Given the description of an element on the screen output the (x, y) to click on. 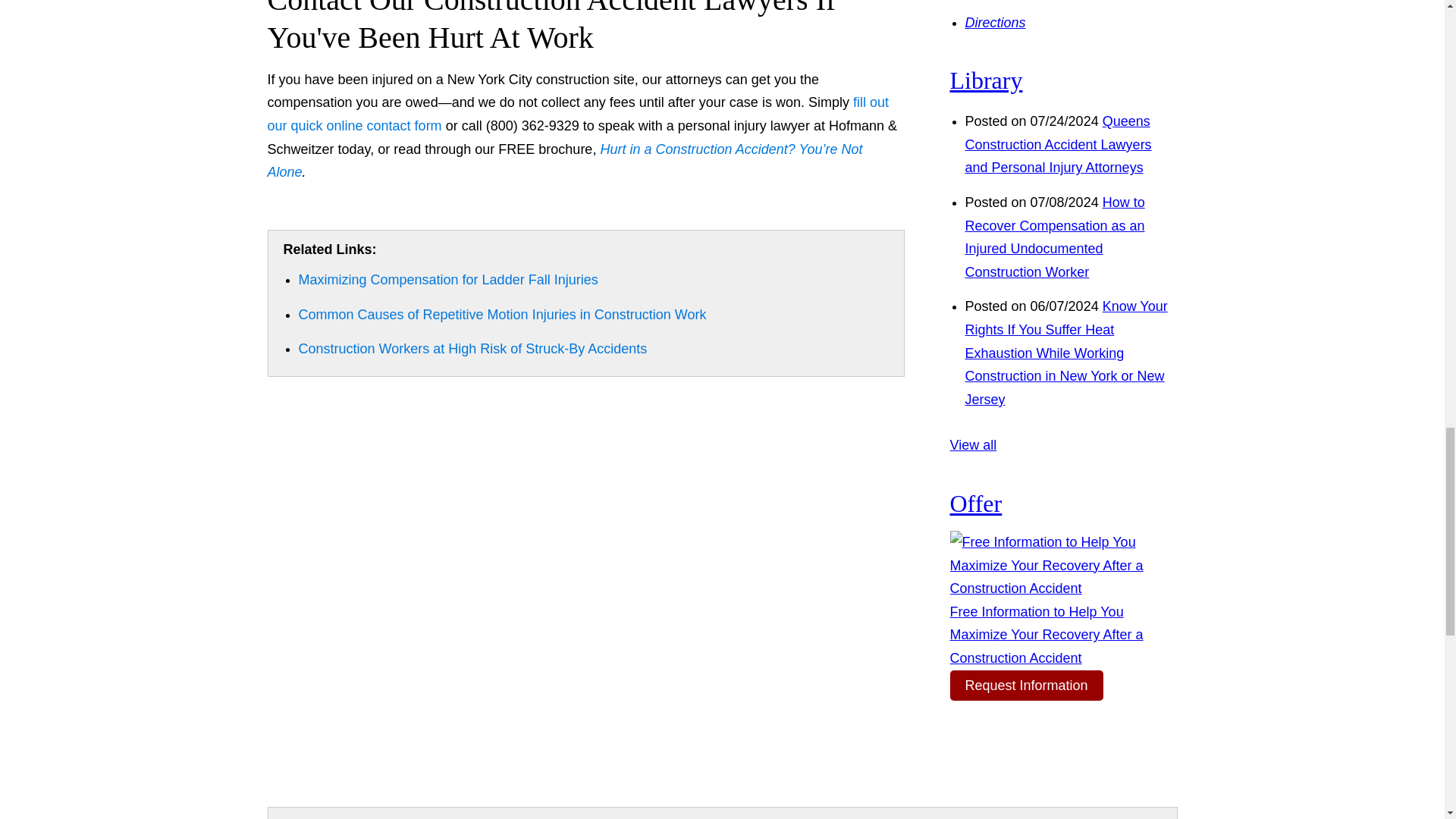
Maximizing Compensation for Ladder Fall Injuries (448, 279)
Construction Workers at High Risk of Struck-By Accidents (472, 348)
fill out our quick online contact form (577, 114)
